Given the description of an element on the screen output the (x, y) to click on. 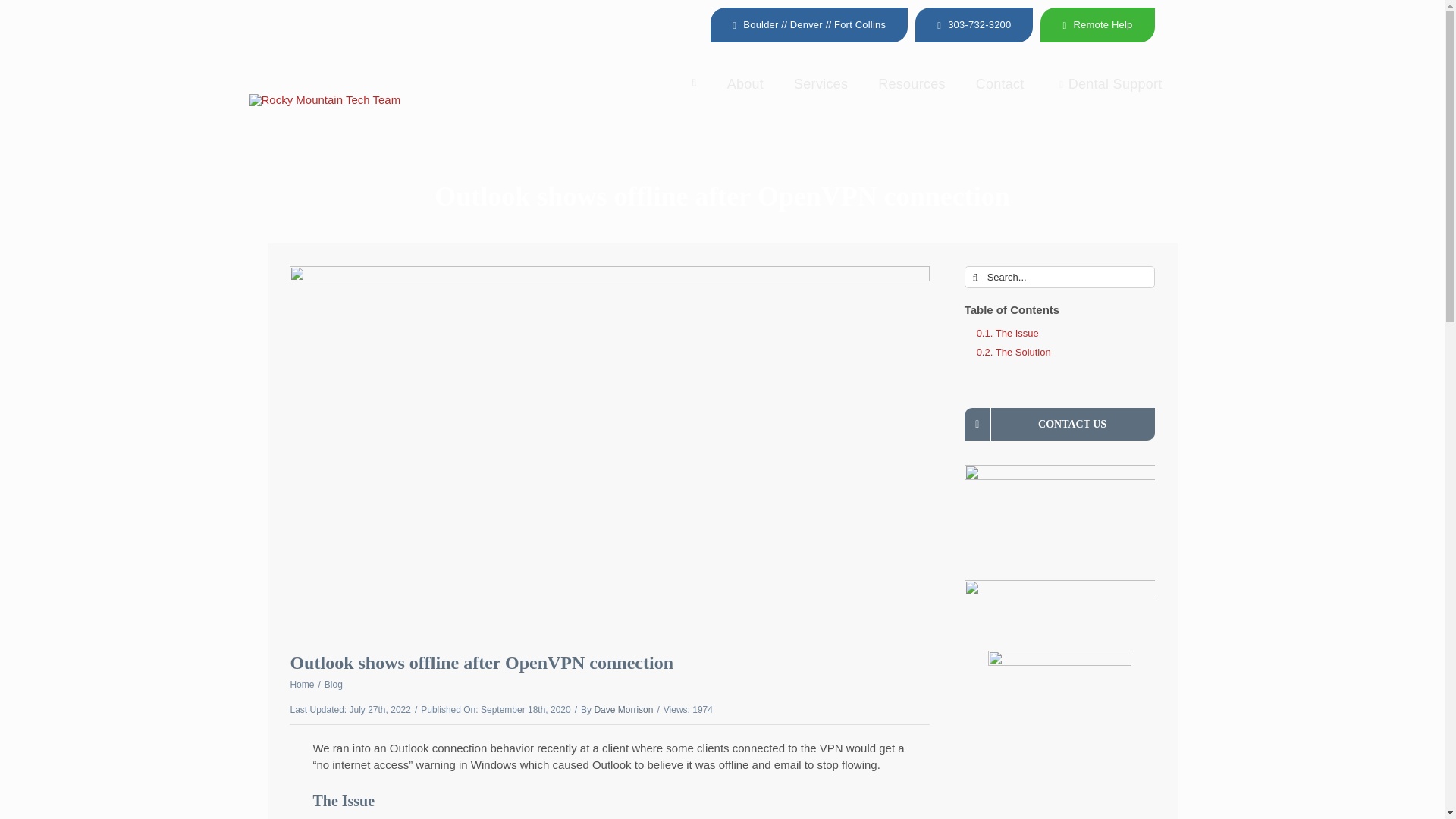
Komen-Sponsor (721, 98)
Home (1059, 685)
Remote Help (301, 684)
Blog (1097, 24)
Posts by Dave Morrison (333, 684)
Contact (623, 709)
Services (999, 92)
Dental Support (820, 92)
Resources (1108, 92)
About (911, 92)
Solutions Partner Large (744, 92)
Search (1058, 515)
303-732-3200 (693, 90)
